Given the description of an element on the screen output the (x, y) to click on. 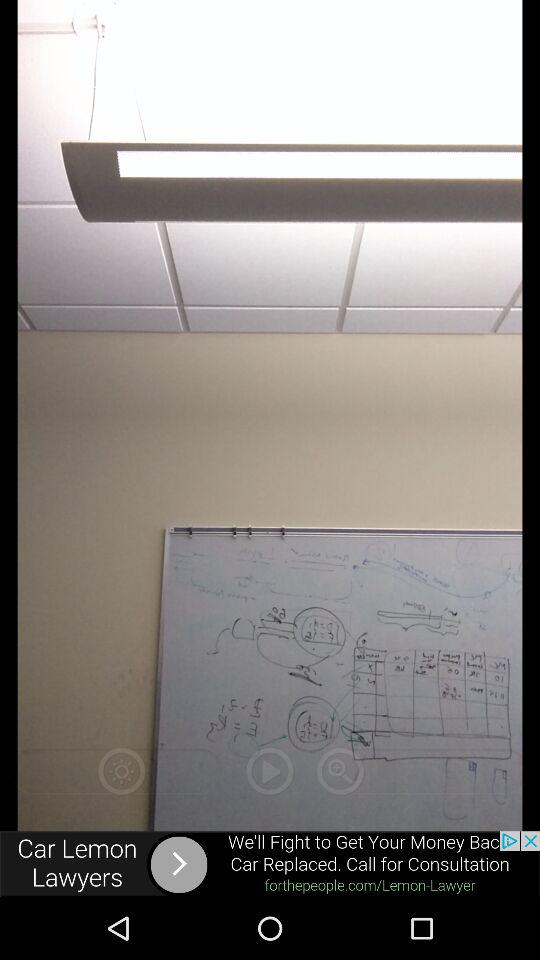
toggle autoplay option (269, 771)
